Given the description of an element on the screen output the (x, y) to click on. 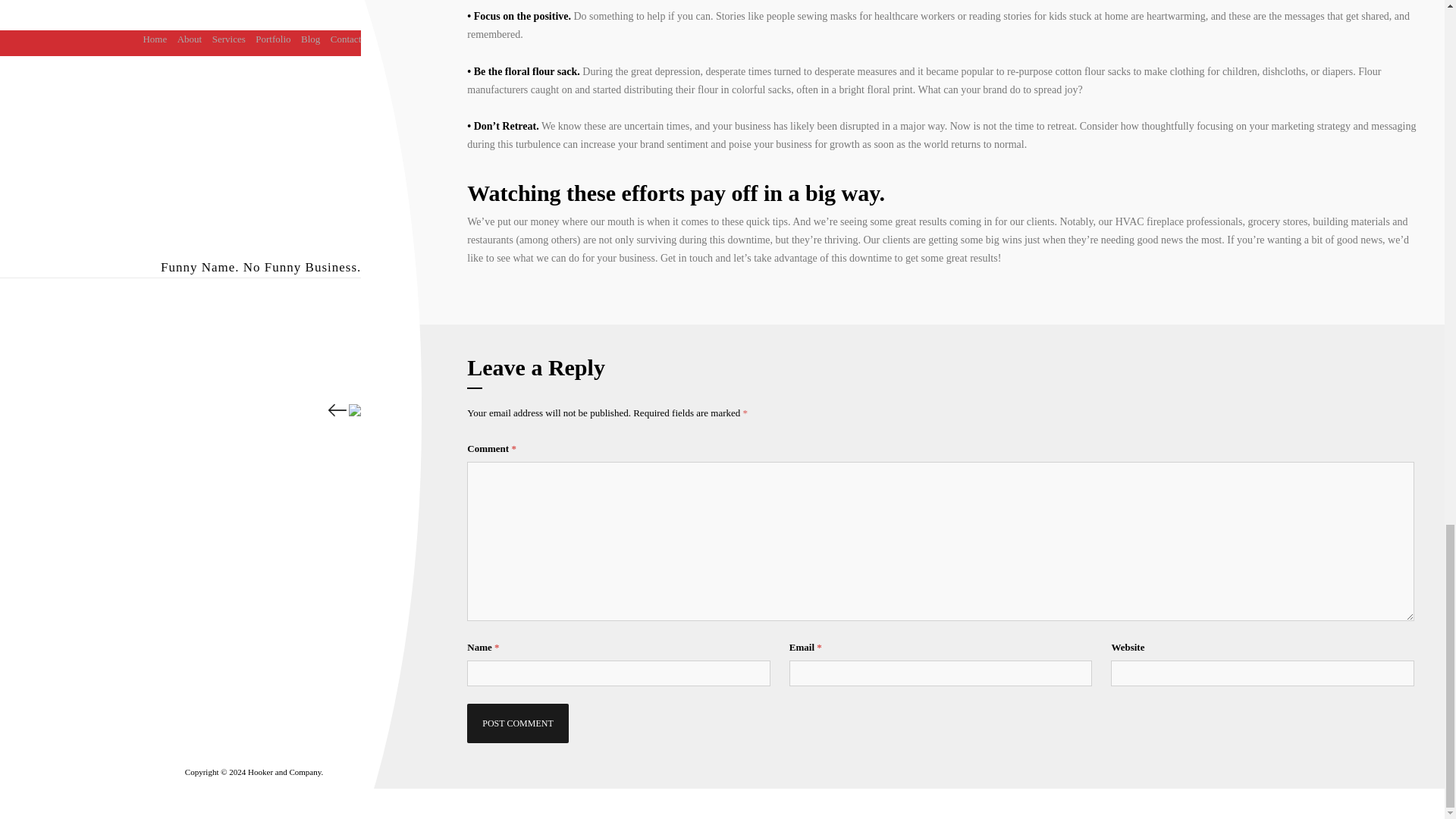
Post Comment (517, 722)
Post Comment (517, 722)
